Given the description of an element on the screen output the (x, y) to click on. 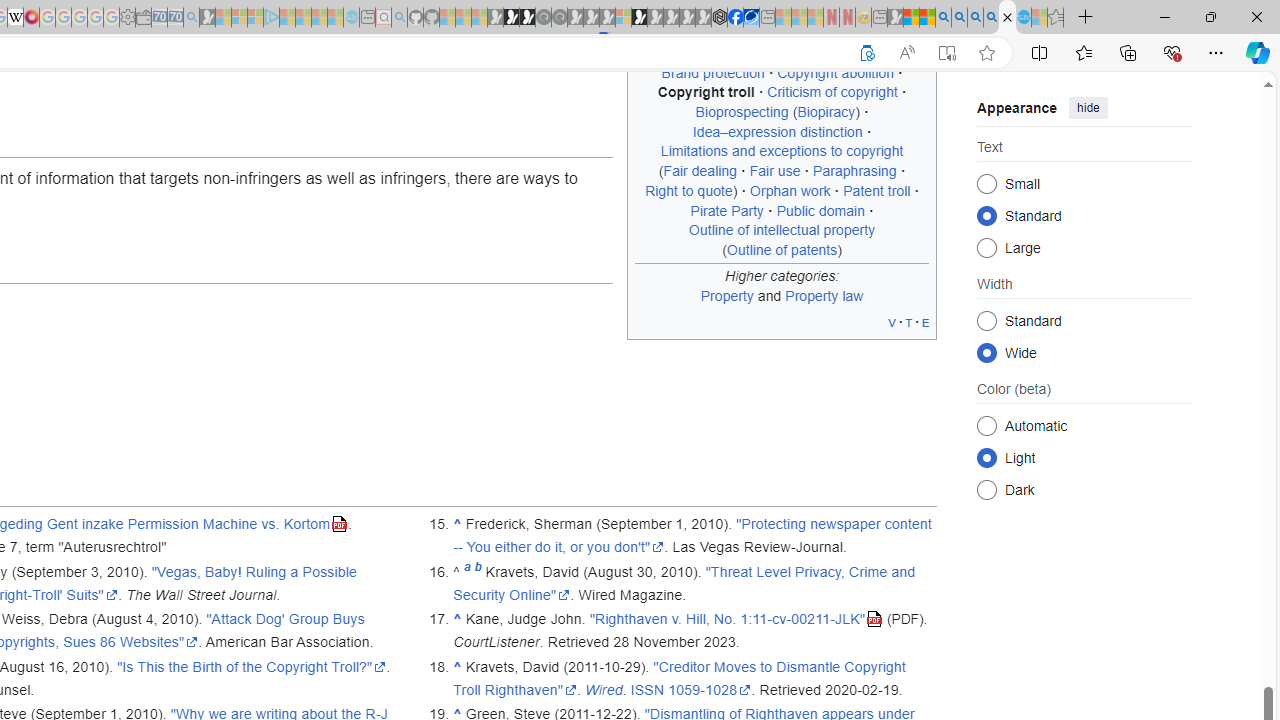
Wired (603, 689)
2009 Bing officially replaced Live Search on June 3 - Search (959, 17)
Play Zoo Boom in your browser | Games from Microsoft Start (511, 17)
t (908, 322)
Fair dealing (700, 171)
